Given the description of an element on the screen output the (x, y) to click on. 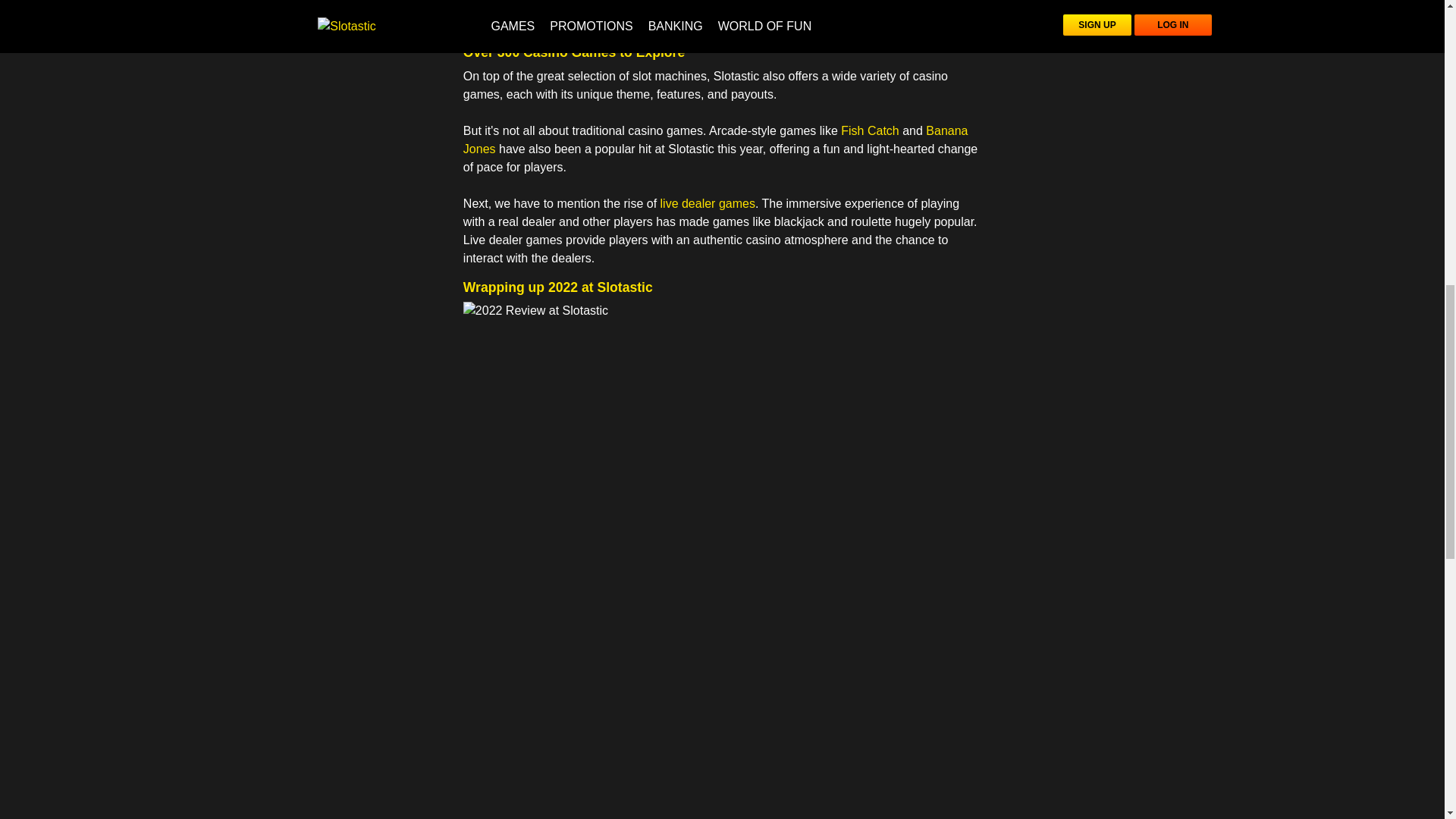
Banana Jones Game (715, 139)
Banana Jones (715, 139)
Live Dealer at Slotastic (708, 203)
Fish Catch (869, 130)
Fish Catch Game (869, 130)
live dealer games (708, 203)
